Given the description of an element on the screen output the (x, y) to click on. 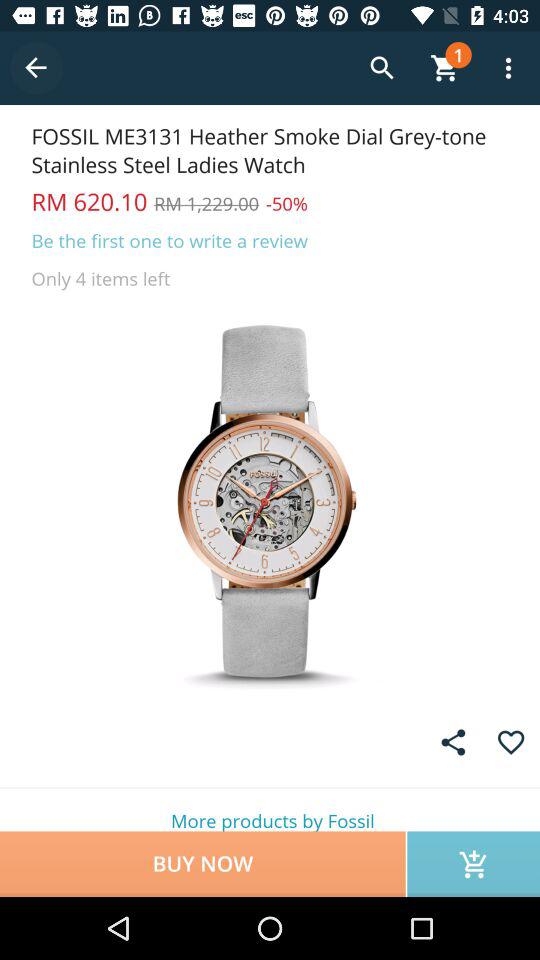
press more products by icon (270, 809)
